Given the description of an element on the screen output the (x, y) to click on. 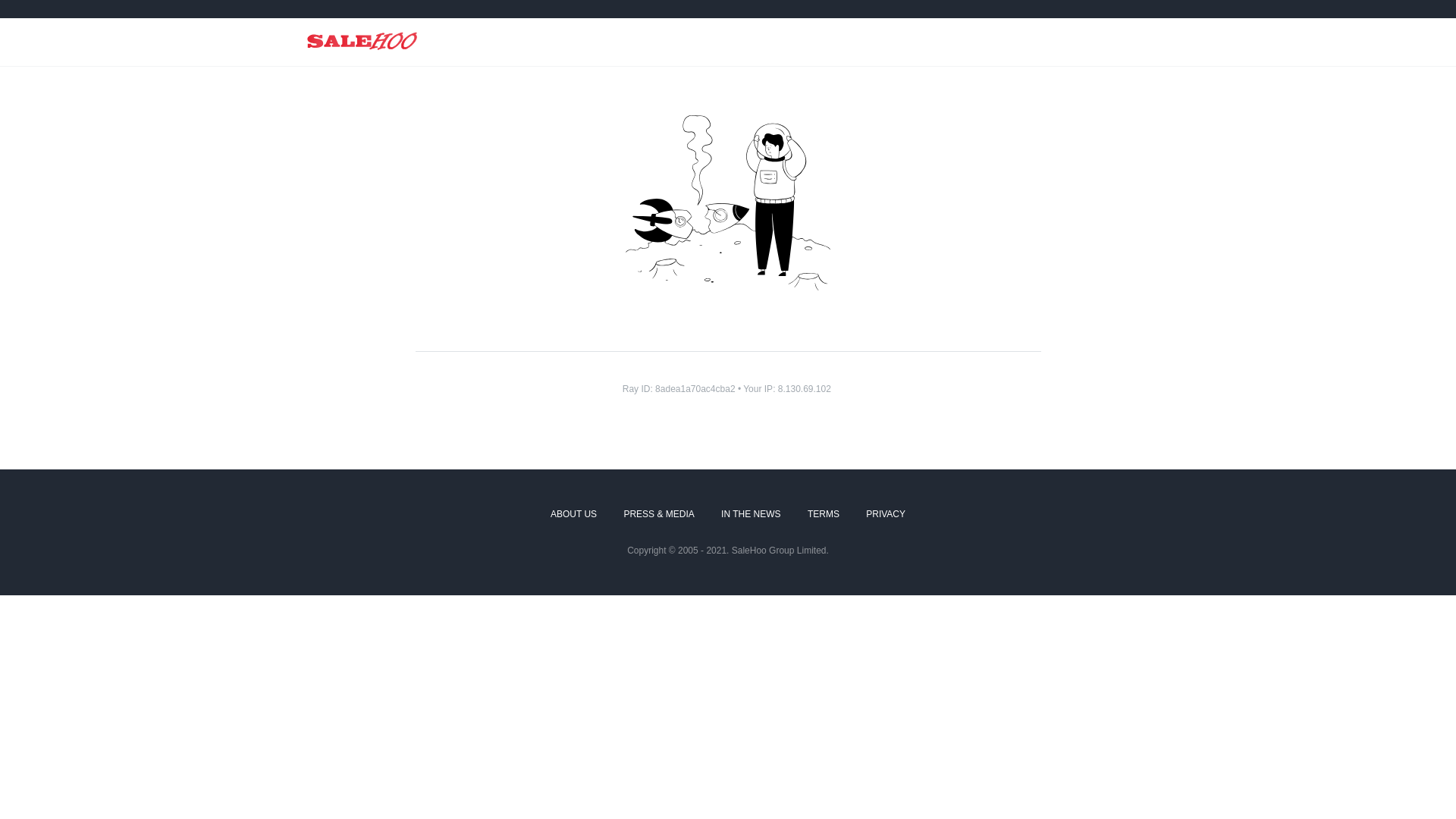
PRIVACY (885, 514)
ABOUT US (573, 514)
TERMS (824, 514)
IN THE NEWS (750, 514)
